Given the description of an element on the screen output the (x, y) to click on. 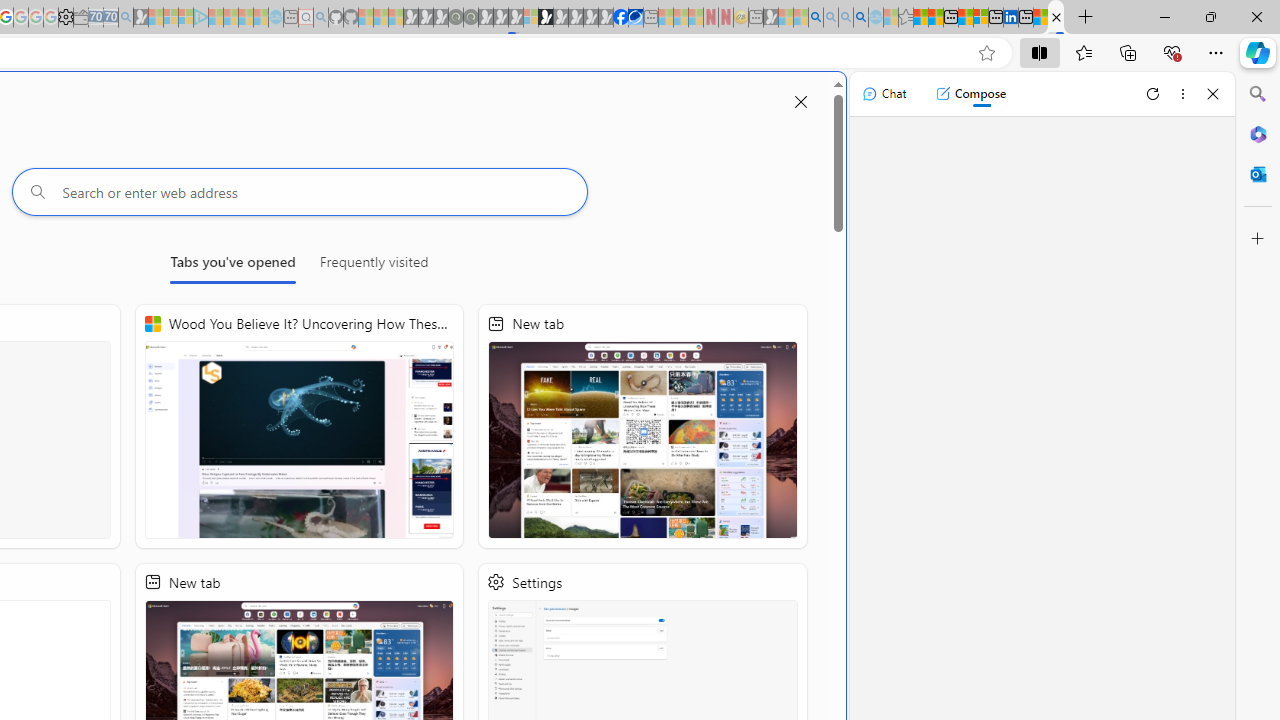
Google Chrome Internet Browser Download - Search Images (860, 17)
Tabs you've opened (232, 265)
